Given the description of an element on the screen output the (x, y) to click on. 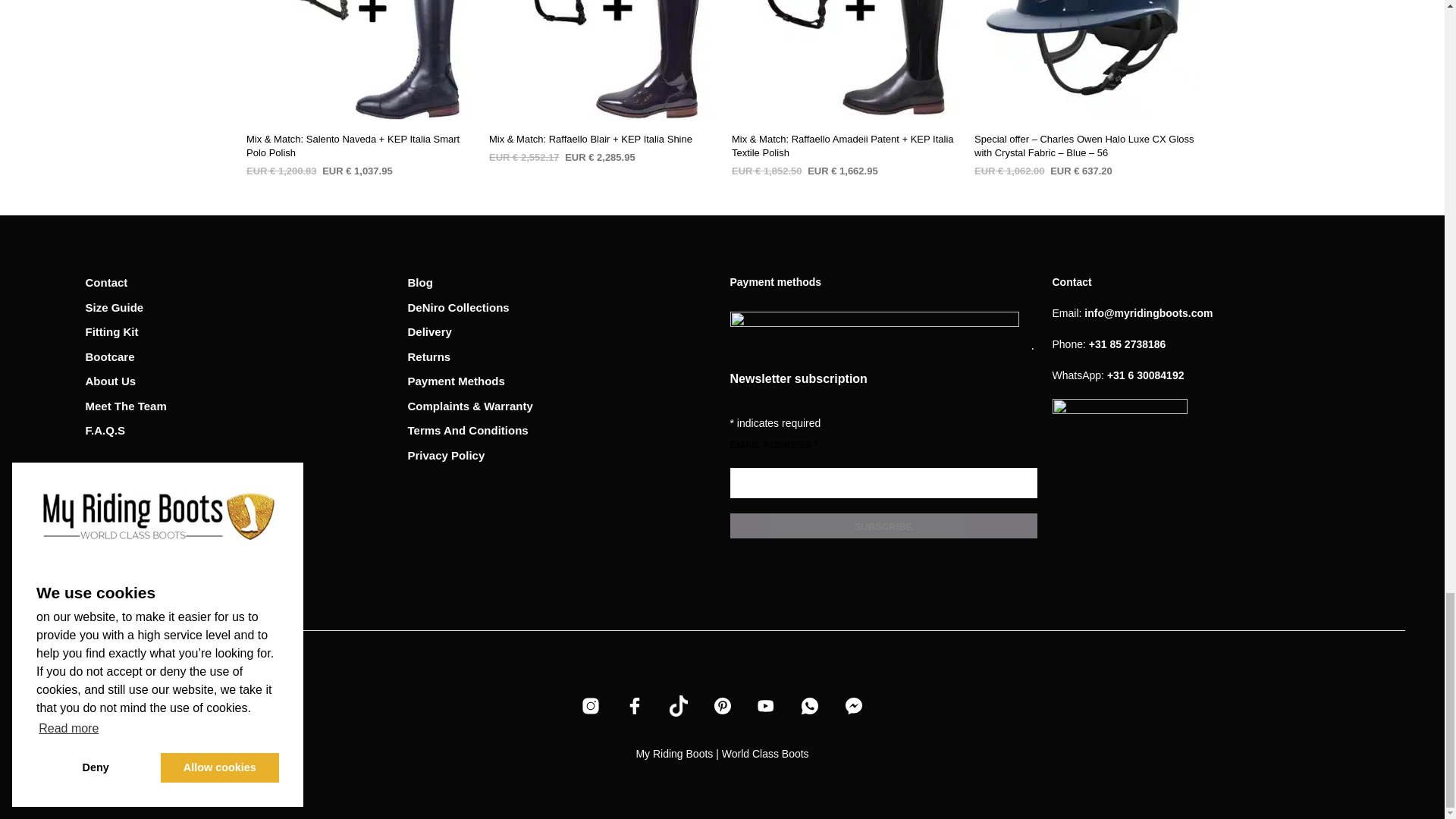
Subscribe (882, 525)
